Given the description of an element on the screen output the (x, y) to click on. 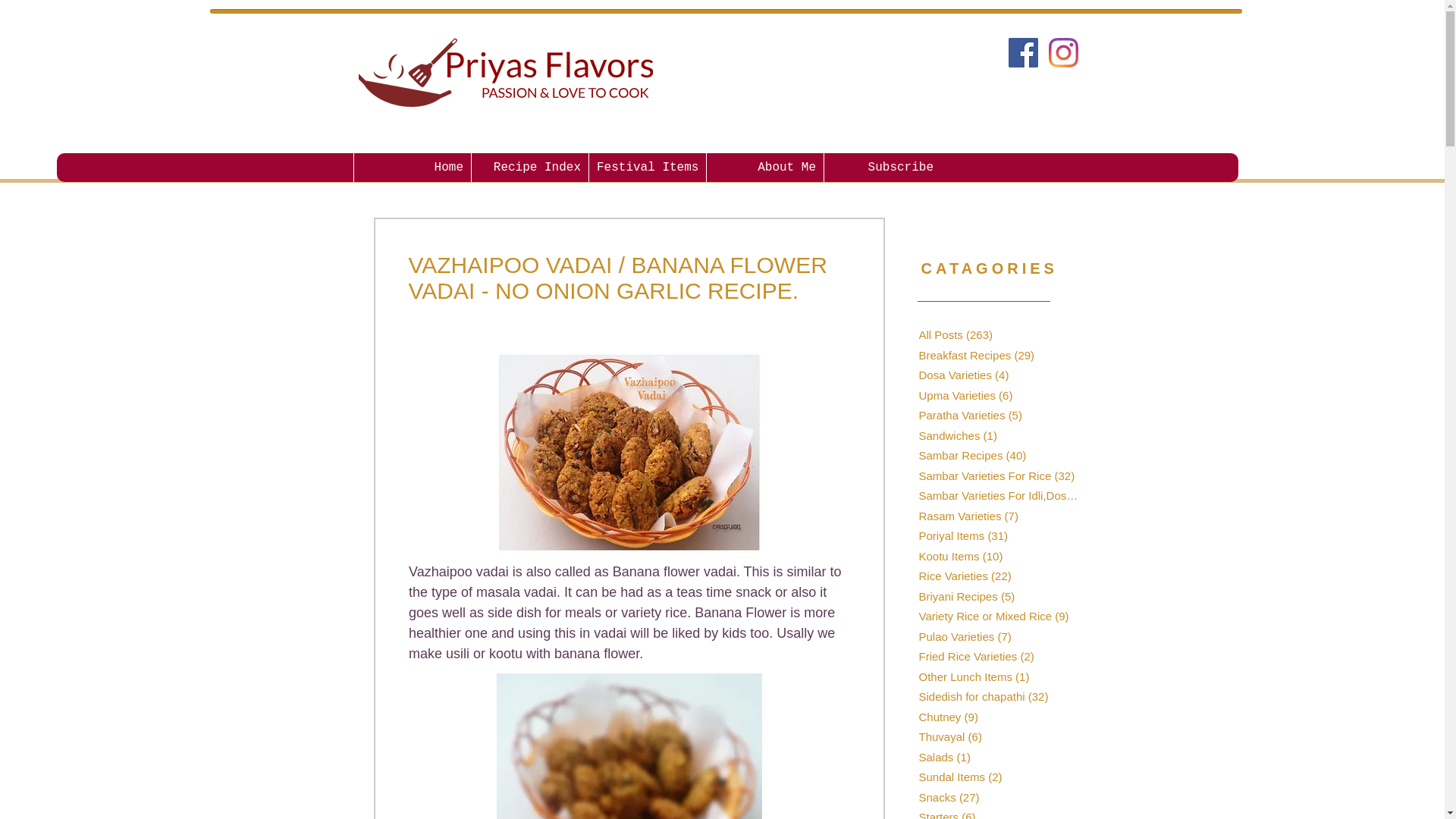
Recipe Index (529, 167)
Home (411, 167)
Festival Items (647, 167)
About Me (765, 167)
Subscribe (882, 167)
